Given the description of an element on the screen output the (x, y) to click on. 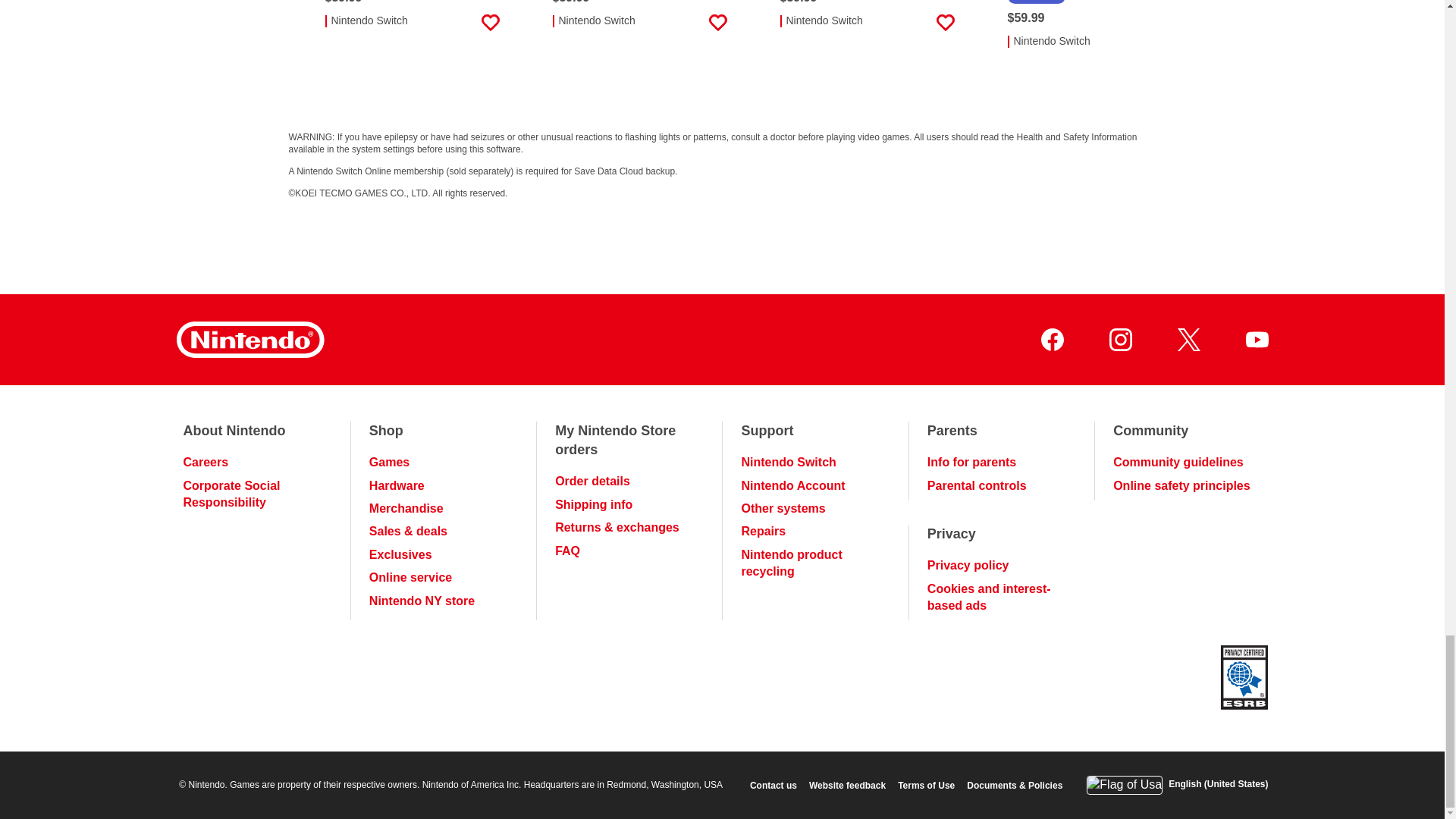
Nintendo Homepage (249, 339)
Add to Wish List (489, 22)
Add to Wish List (716, 22)
Add to Wish List (944, 22)
Nintendo on Instagram (1119, 339)
Nintendo on Facebook (1051, 339)
Add to Wish List (1172, 43)
